Given the description of an element on the screen output the (x, y) to click on. 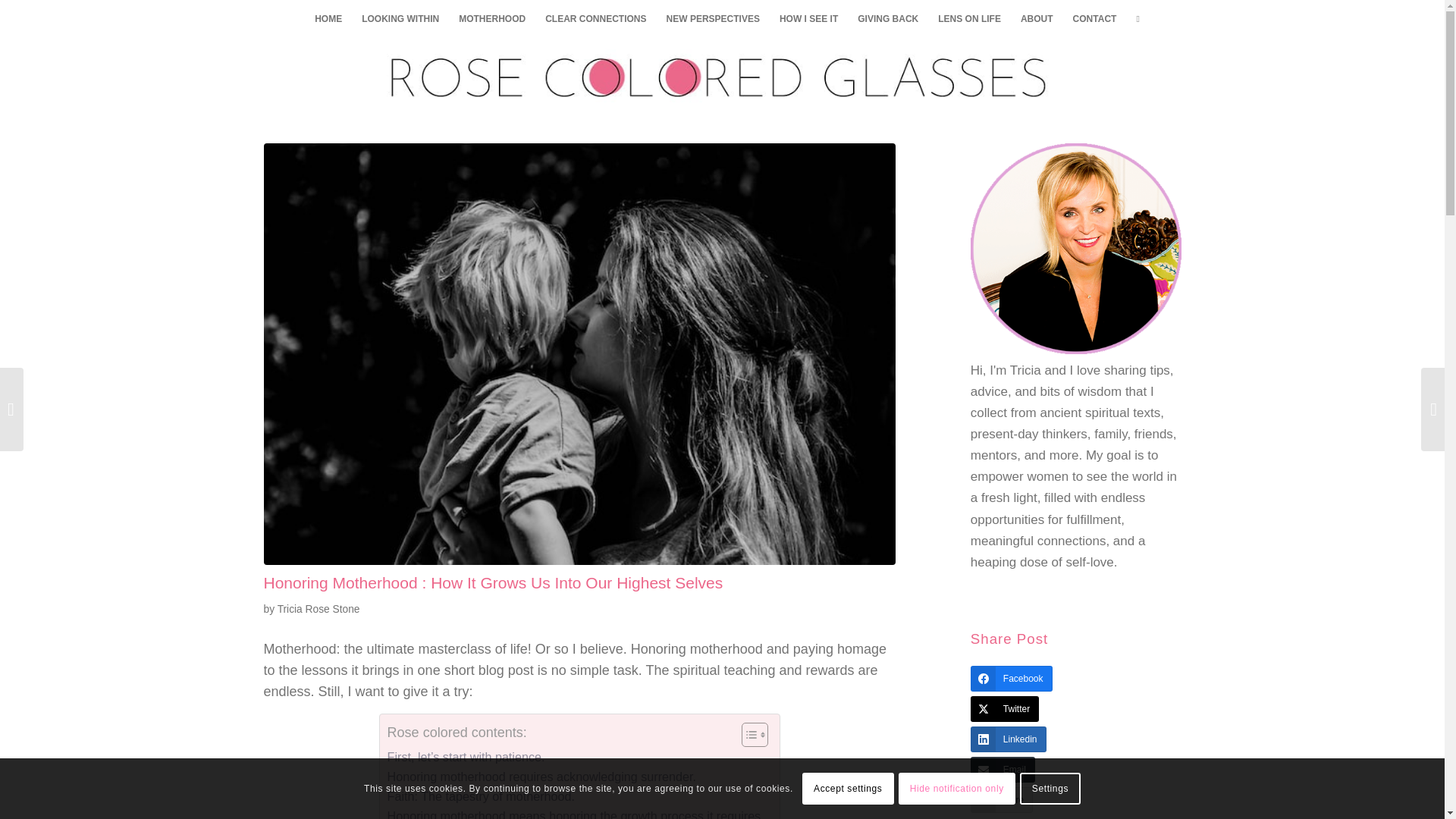
CLEAR CONNECTIONS (595, 18)
Honoring motherhood requires acknowledging surrender. (541, 777)
LOOKING WITHIN (400, 18)
HOME (328, 18)
LENS ON LIFE (969, 18)
MOTHERHOOD (491, 18)
Posts by Tricia Rose Stone (318, 609)
Twitter (1005, 708)
CONTACT (1094, 18)
Facebook (1011, 678)
HOW I SEE IT (808, 18)
Tricia Rose Stone (318, 609)
